Given the description of an element on the screen output the (x, y) to click on. 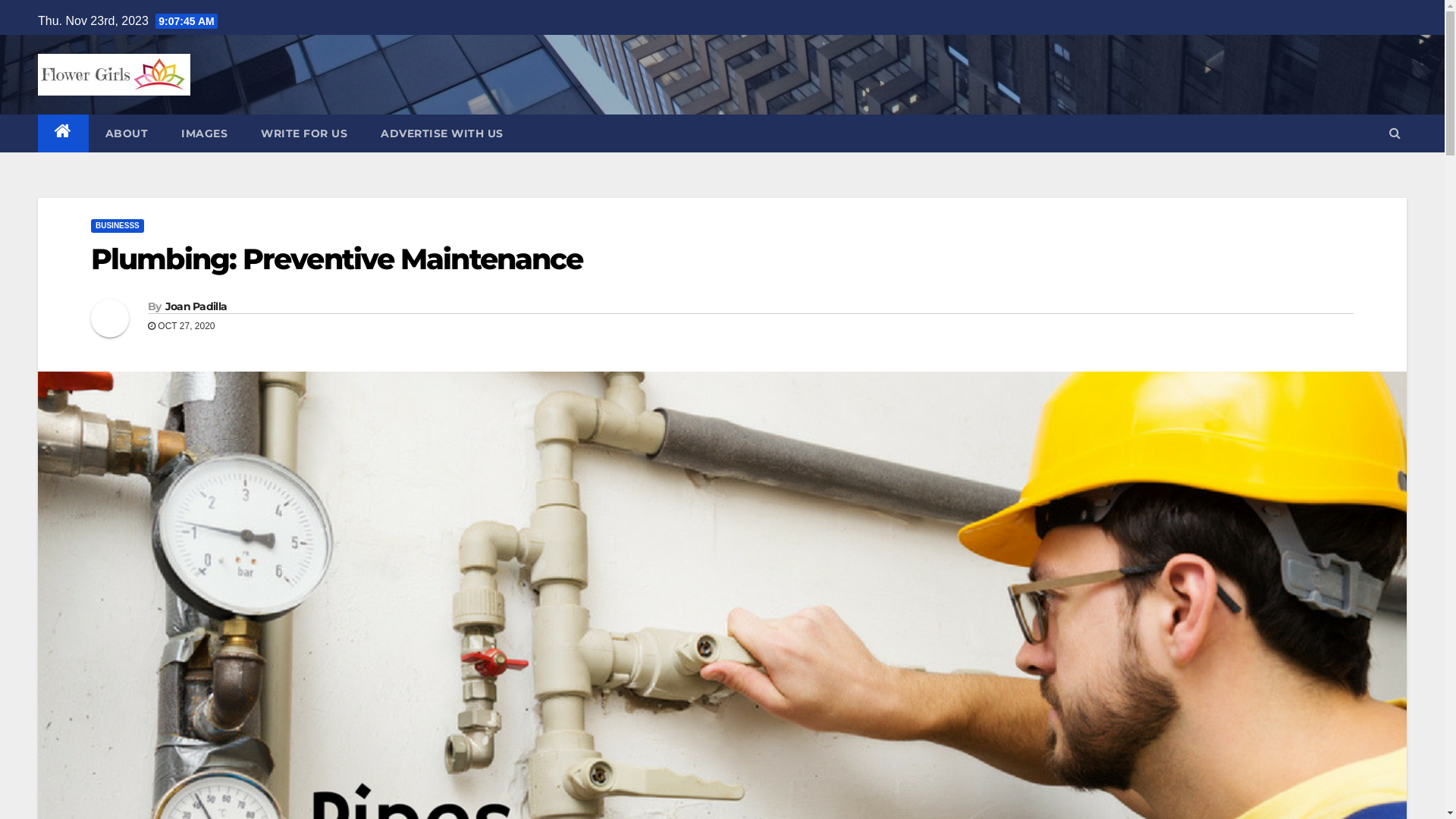
WRITE FOR US Element type: text (304, 133)
ADVERTISE WITH US Element type: text (442, 133)
BUSINESSS Element type: text (117, 225)
Plumbing: Preventive Maintenance Element type: text (336, 258)
ABOUT Element type: text (125, 133)
IMAGES Element type: text (204, 133)
Joan Padilla Element type: text (196, 306)
